Given the description of an element on the screen output the (x, y) to click on. 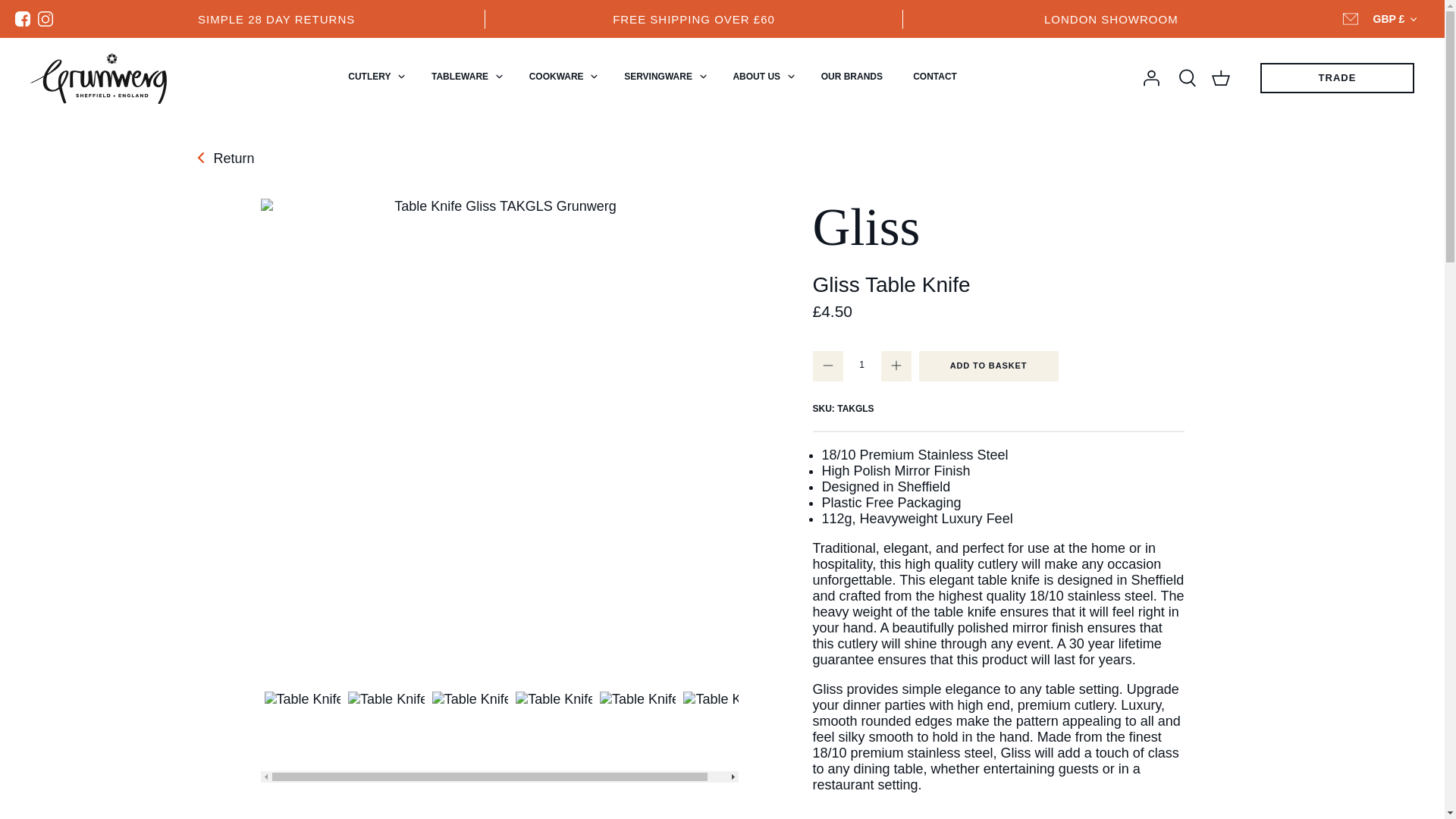
TRADE (1336, 78)
CONTACT (935, 76)
OUR BRANDS (852, 76)
Minus (828, 365)
ABOUT US (756, 76)
SIMPLE 28 DAY RETURNS (276, 18)
CUTLERY (369, 76)
LONDON SHOWROOM (1110, 18)
Add to Basket (988, 365)
Grunwerg (98, 78)
